Given the description of an element on the screen output the (x, y) to click on. 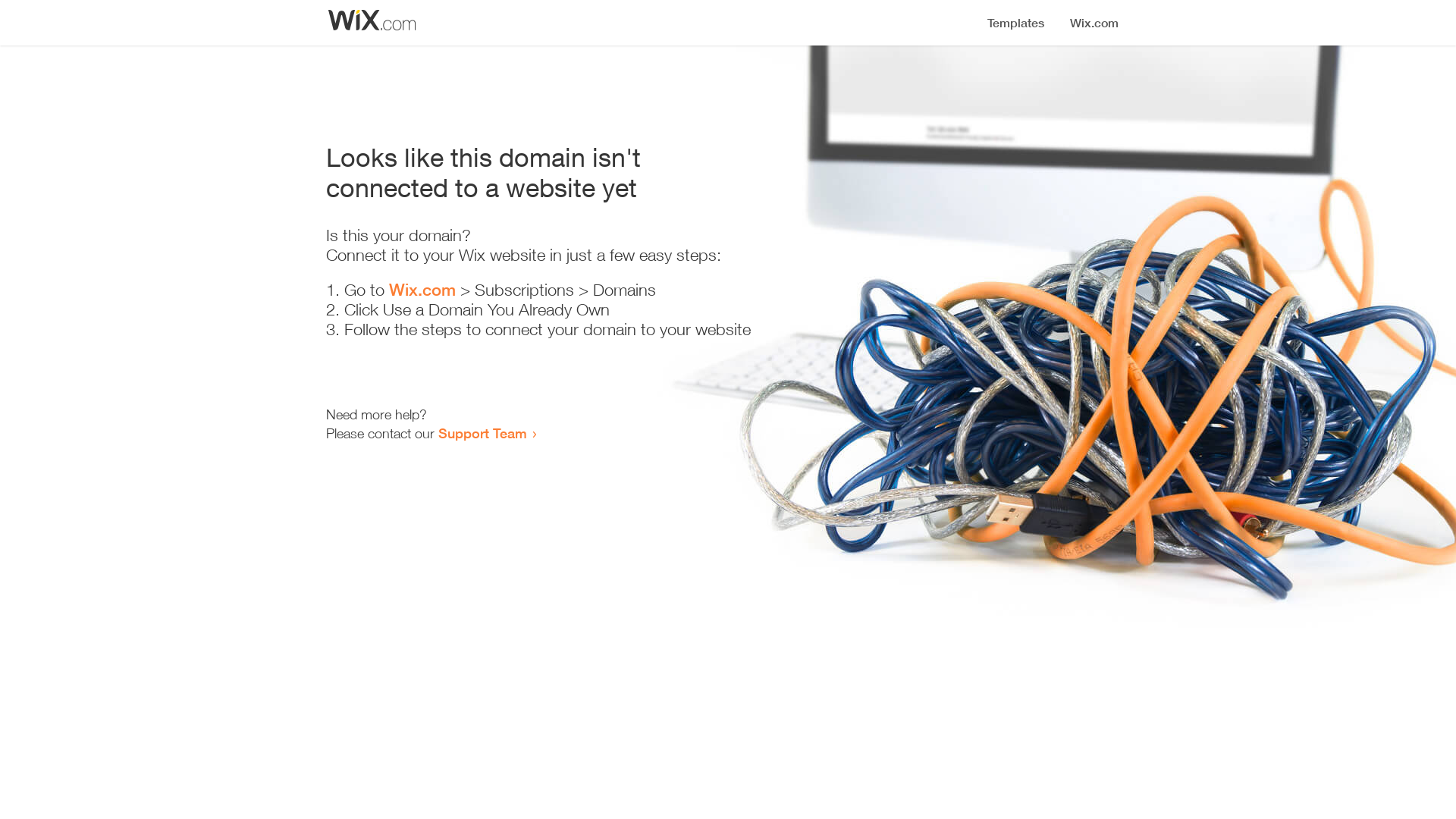
Support Team Element type: text (482, 432)
Wix.com Element type: text (422, 289)
